Given the description of an element on the screen output the (x, y) to click on. 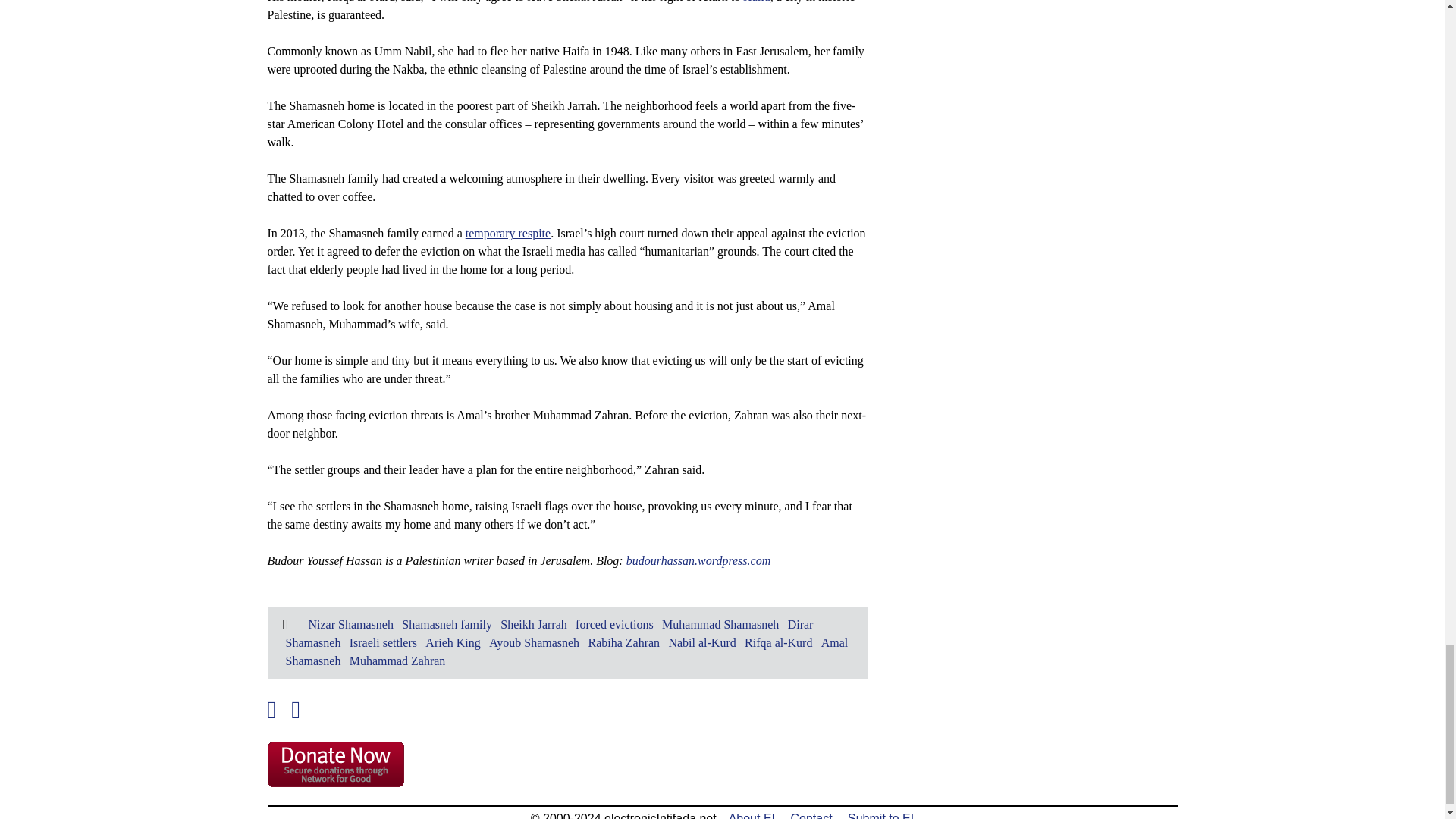
Rabiha Zahran (623, 642)
Haifa (756, 1)
temporary respite (507, 232)
Nabil al-Kurd (701, 642)
Dirar Shamasneh (548, 633)
Muhammad Shamasneh (720, 624)
Israeli settlers (382, 642)
Muhammad Zahran (397, 660)
Arieh King (452, 642)
Rifqa al-Kurd (778, 642)
Sheikh Jarrah (533, 624)
Amal Shamasneh (566, 651)
Ayoub Shamasneh (534, 642)
forced evictions (614, 624)
budourhassan.wordpress.com (698, 560)
